Given the description of an element on the screen output the (x, y) to click on. 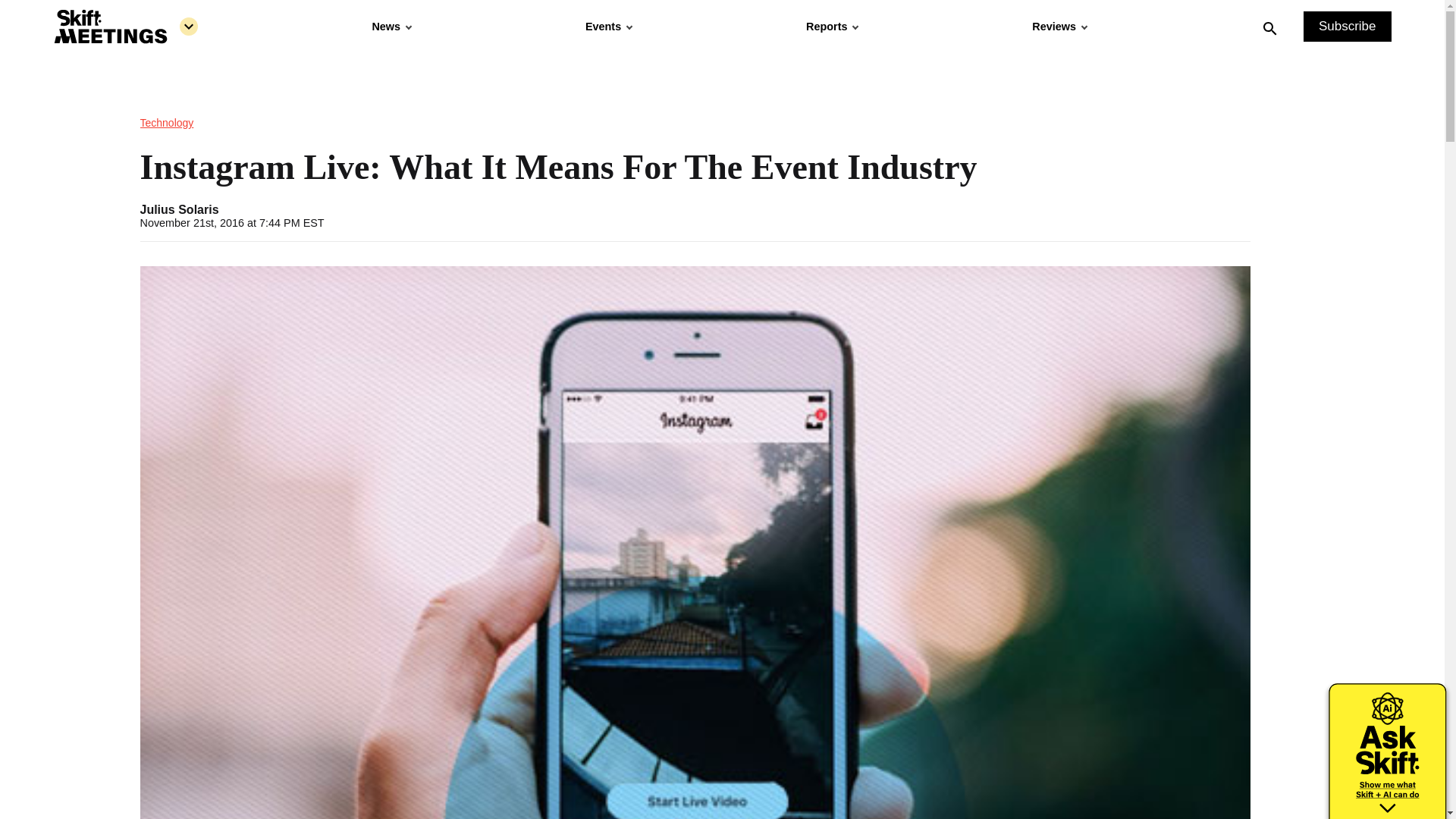
Reports (831, 26)
Reviews (1059, 26)
Subscribe (1347, 26)
